Given the description of an element on the screen output the (x, y) to click on. 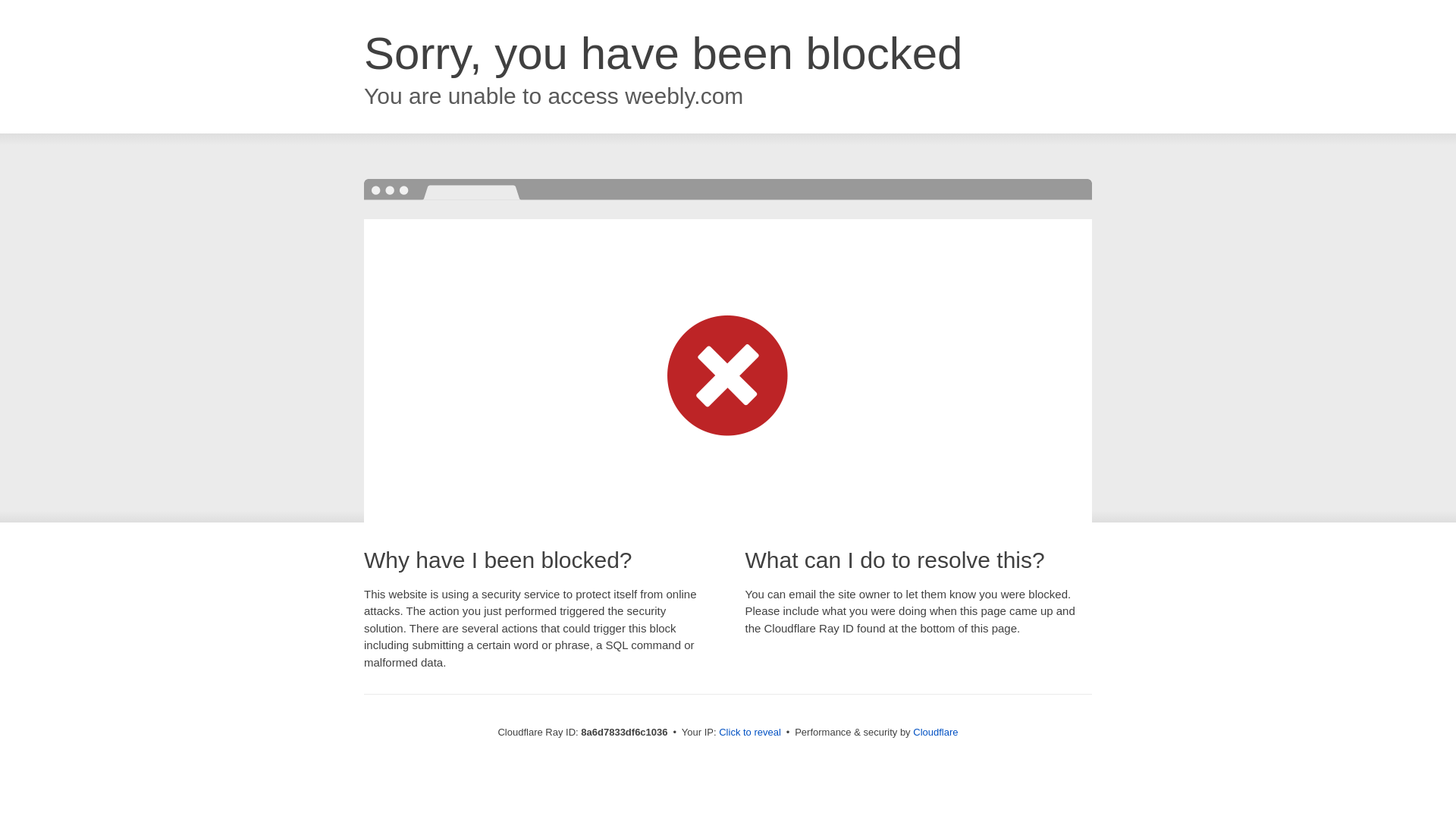
Cloudflare (935, 731)
Click to reveal (749, 732)
